Given the description of an element on the screen output the (x, y) to click on. 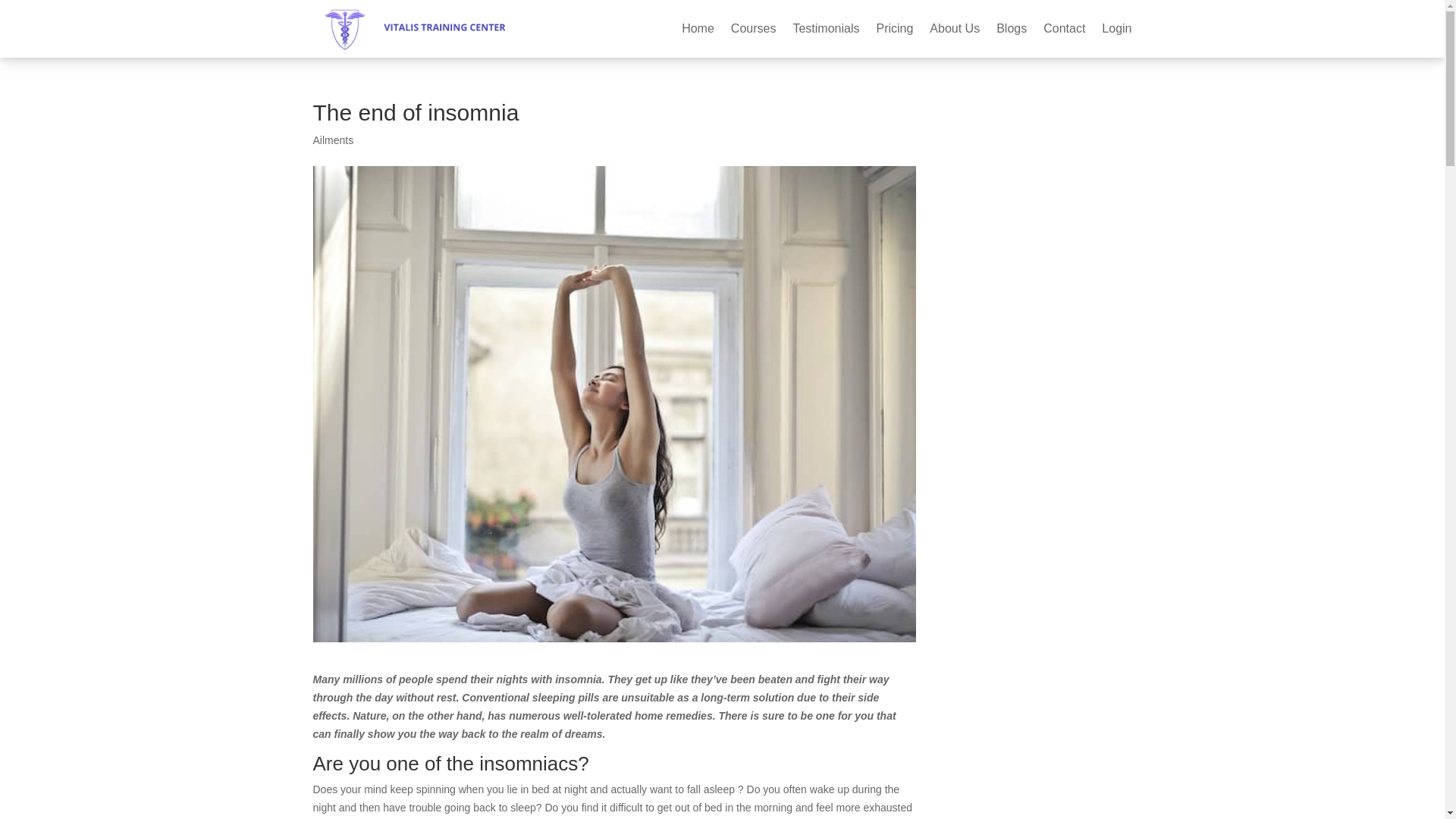
Contact (1063, 28)
Login (1116, 28)
Ailments (333, 140)
Blogs (1010, 28)
Home (697, 28)
About Us (954, 28)
Pricing (894, 28)
Courses (753, 28)
Testimonials (825, 28)
